Given the description of an element on the screen output the (x, y) to click on. 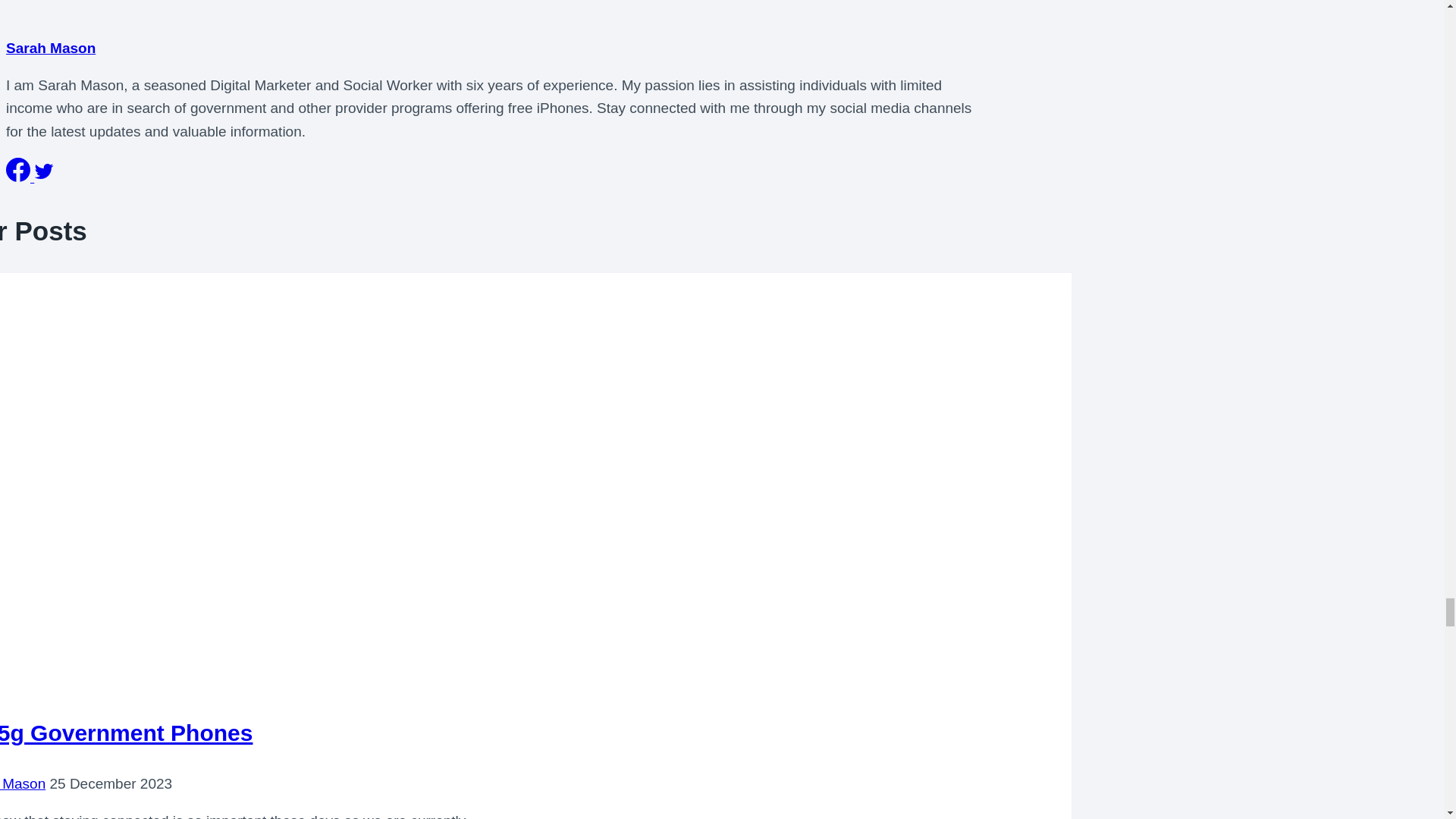
Facebook (17, 169)
Follow Sarah Mason on Facebook (19, 176)
Follow Sarah Mason on Twitter (43, 176)
Posts by Sarah Mason (50, 48)
Twitter (43, 170)
